Given the description of an element on the screen output the (x, y) to click on. 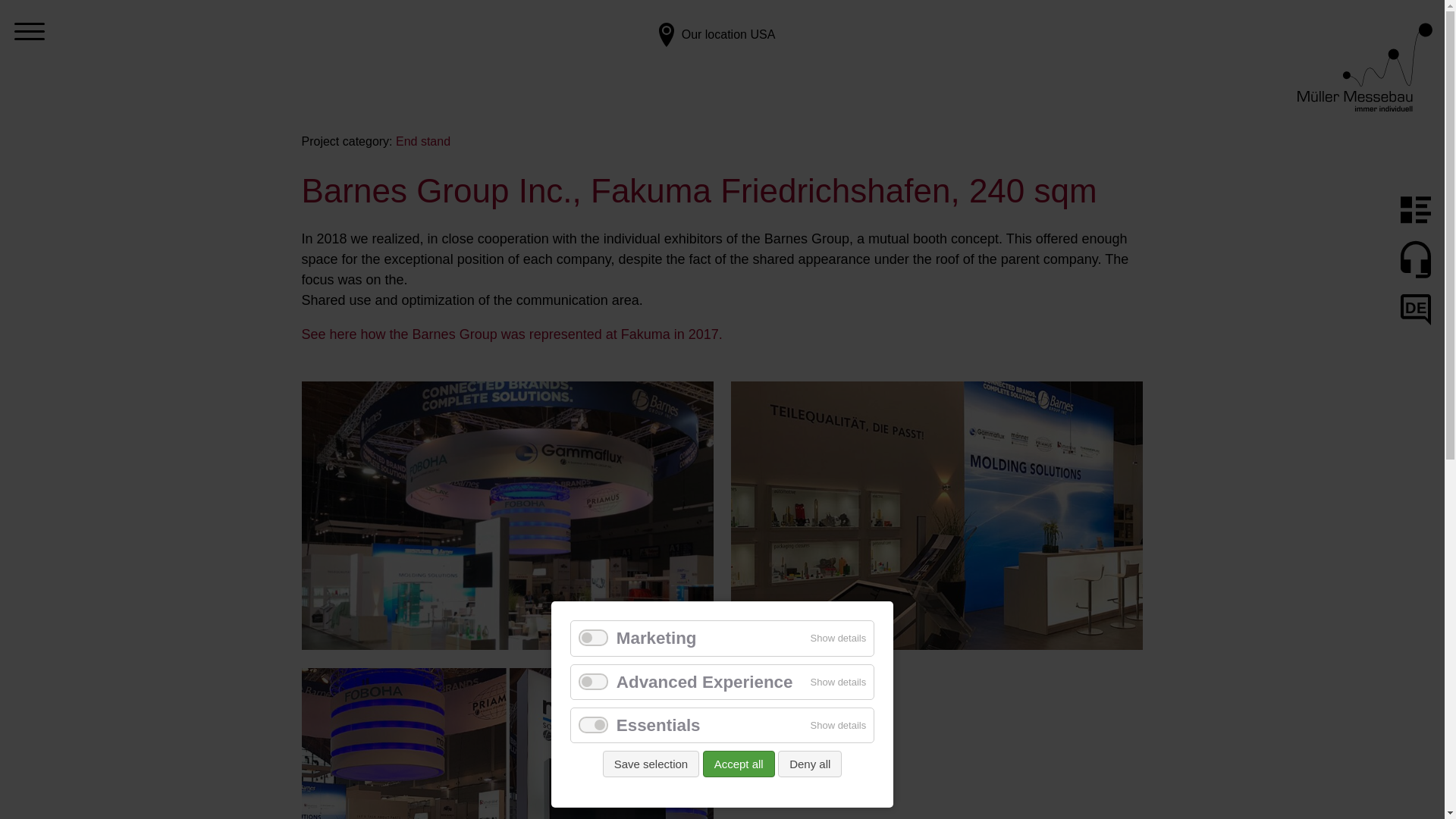
Barnes Group Inc., Fakuma Friedrichshafen, 240 sqm (507, 522)
End stand (422, 141)
Barnes Group Inc., Fakuma Friedrichshafen, 240 sqm (507, 743)
DE (1415, 309)
Barnes Group Inc., Fakuma Friedrichshafen, 240 sqm (936, 522)
Our location USA (714, 69)
